Given the description of an element on the screen output the (x, y) to click on. 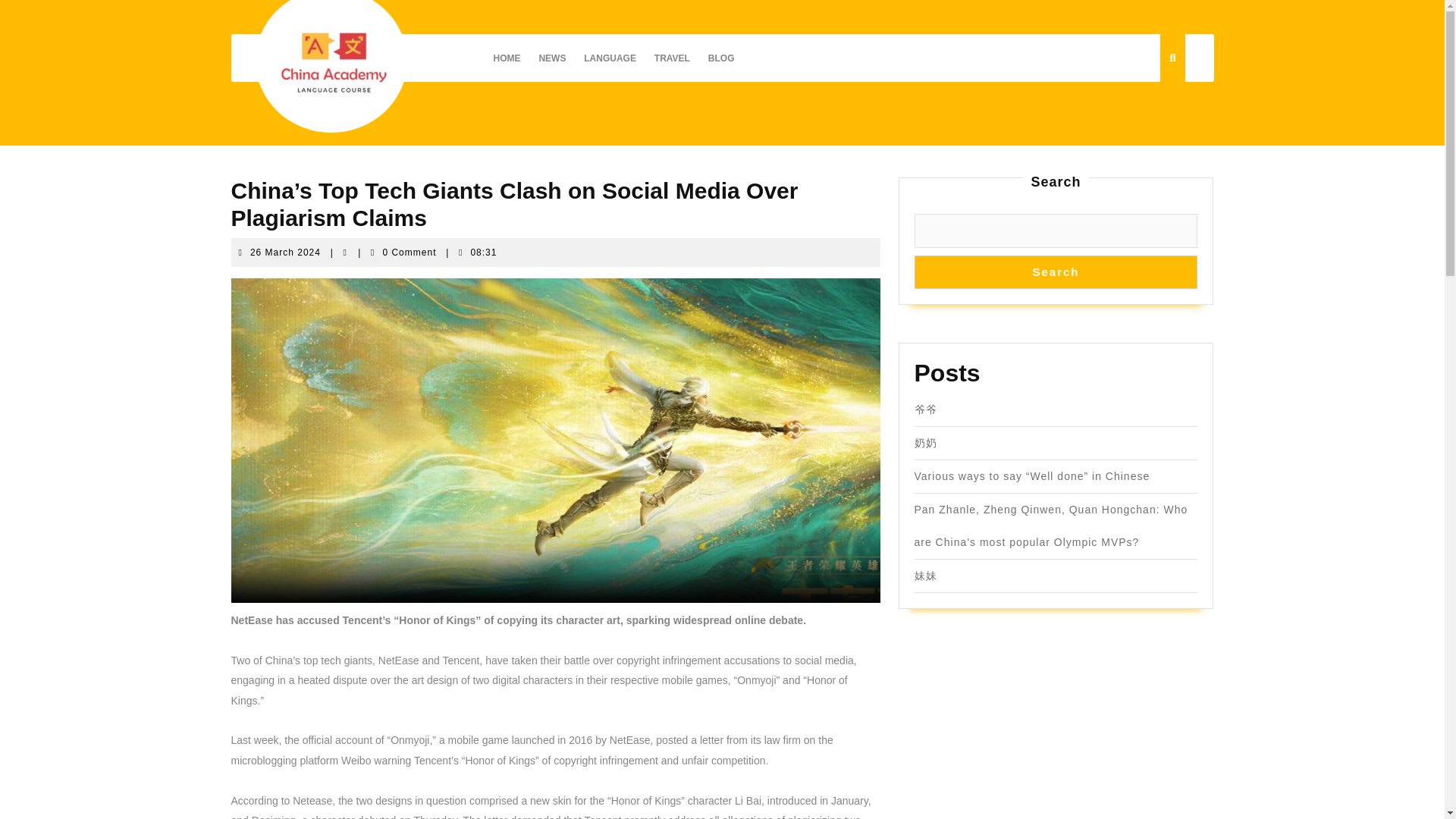
TRAVEL (671, 58)
NEWS (552, 58)
Search (285, 252)
LANGUAGE (1056, 271)
HOME (609, 58)
